Given the description of an element on the screen output the (x, y) to click on. 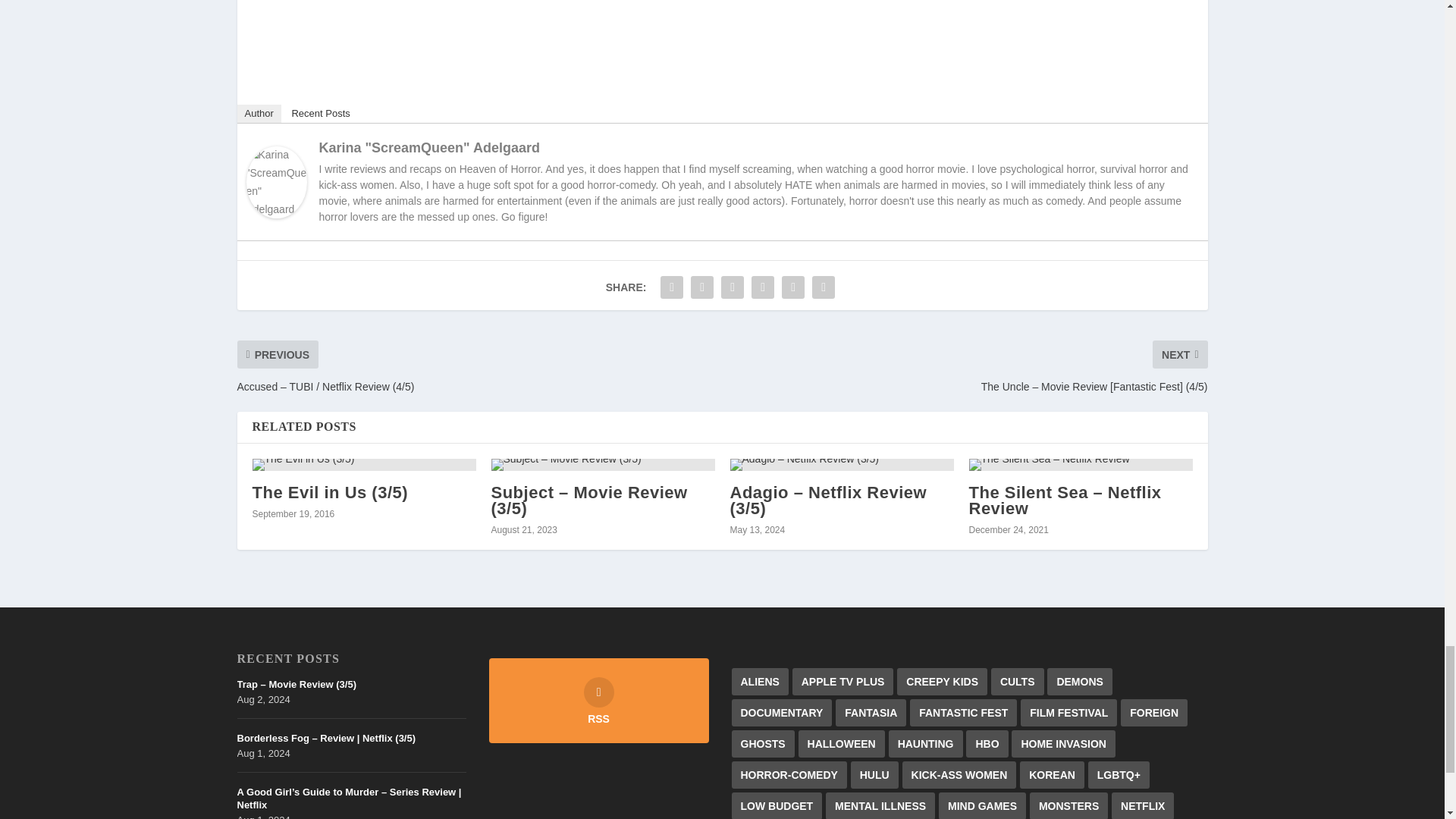
Author (258, 113)
Karina "ScreamQueen" Adelgaard (275, 214)
Recent Posts (319, 113)
